Given the description of an element on the screen output the (x, y) to click on. 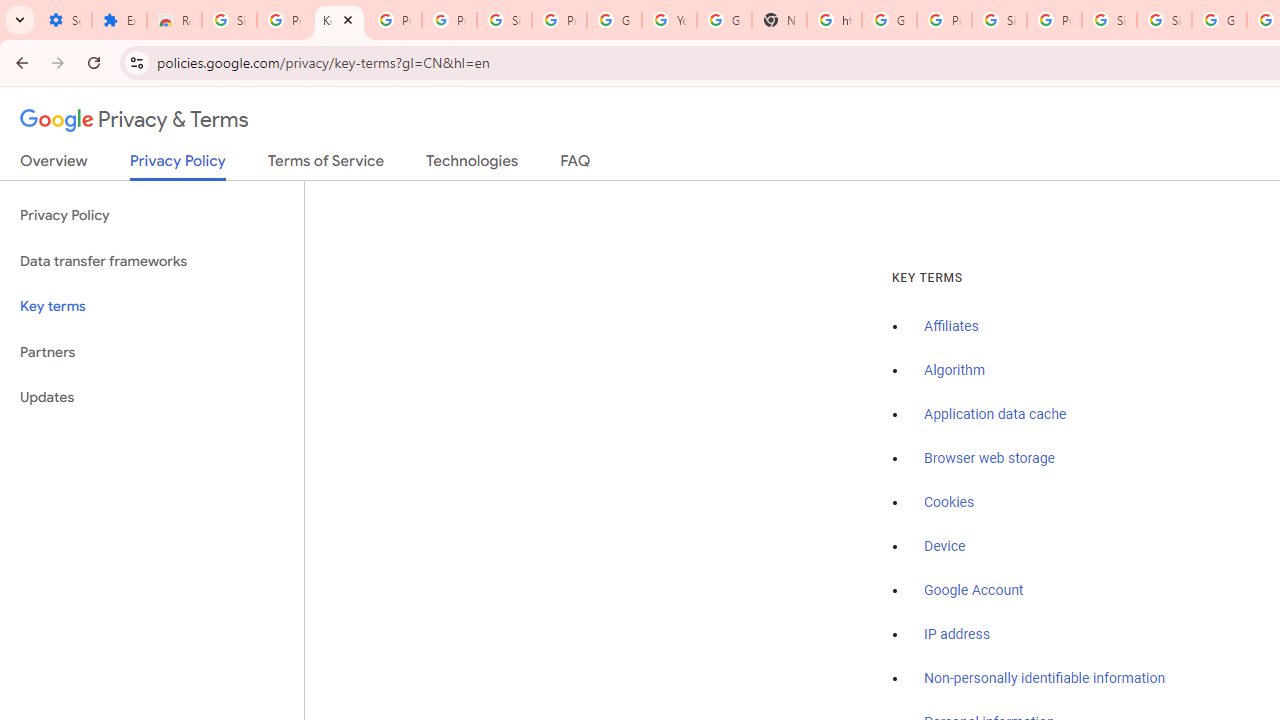
Sign in - Google Accounts (1163, 20)
Algorithm (954, 371)
